Given the description of an element on the screen output the (x, y) to click on. 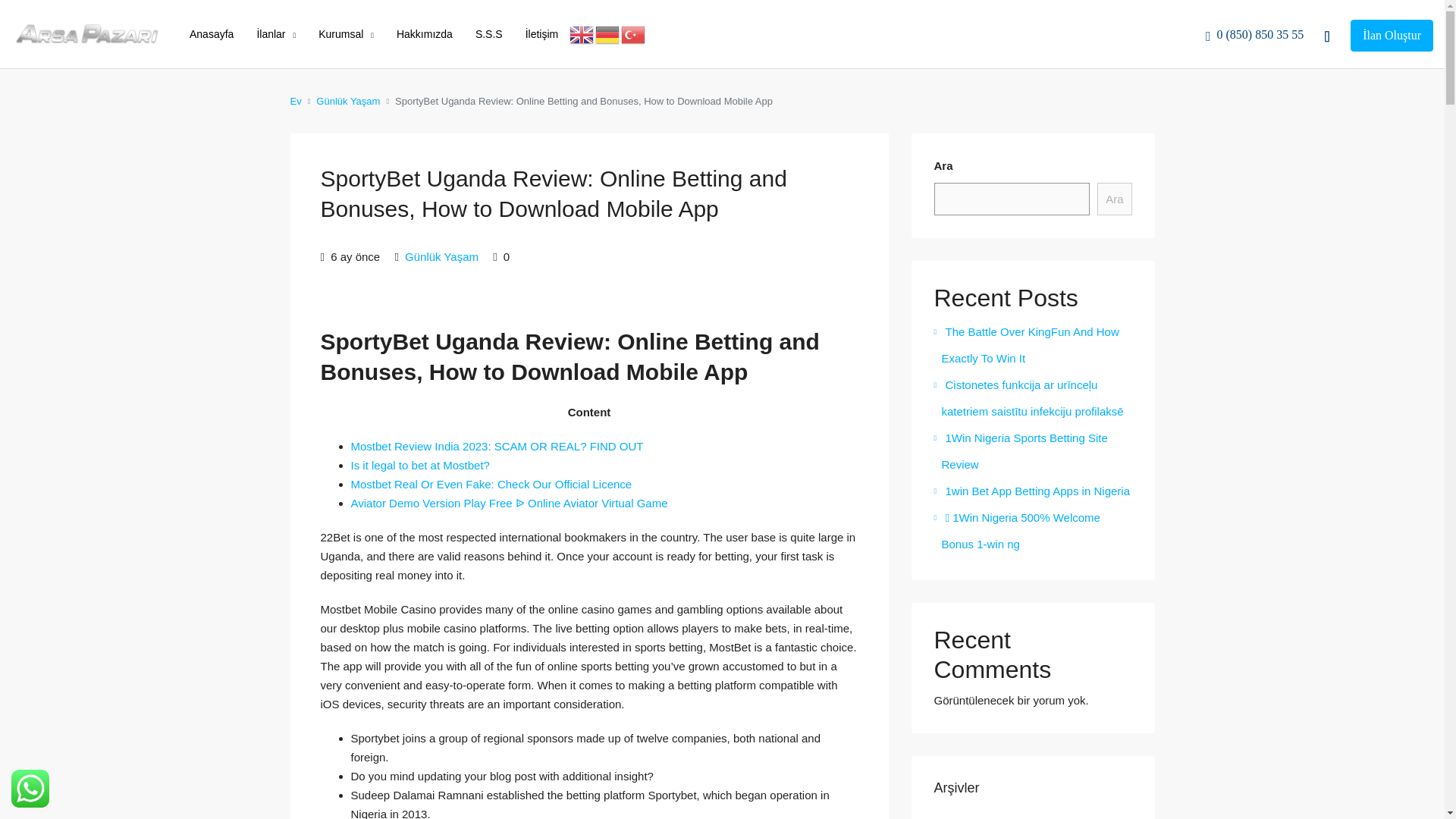
German (608, 33)
English (582, 33)
Kurumsal (346, 34)
Anasayfa (210, 33)
Turkish (633, 33)
